Given the description of an element on the screen output the (x, y) to click on. 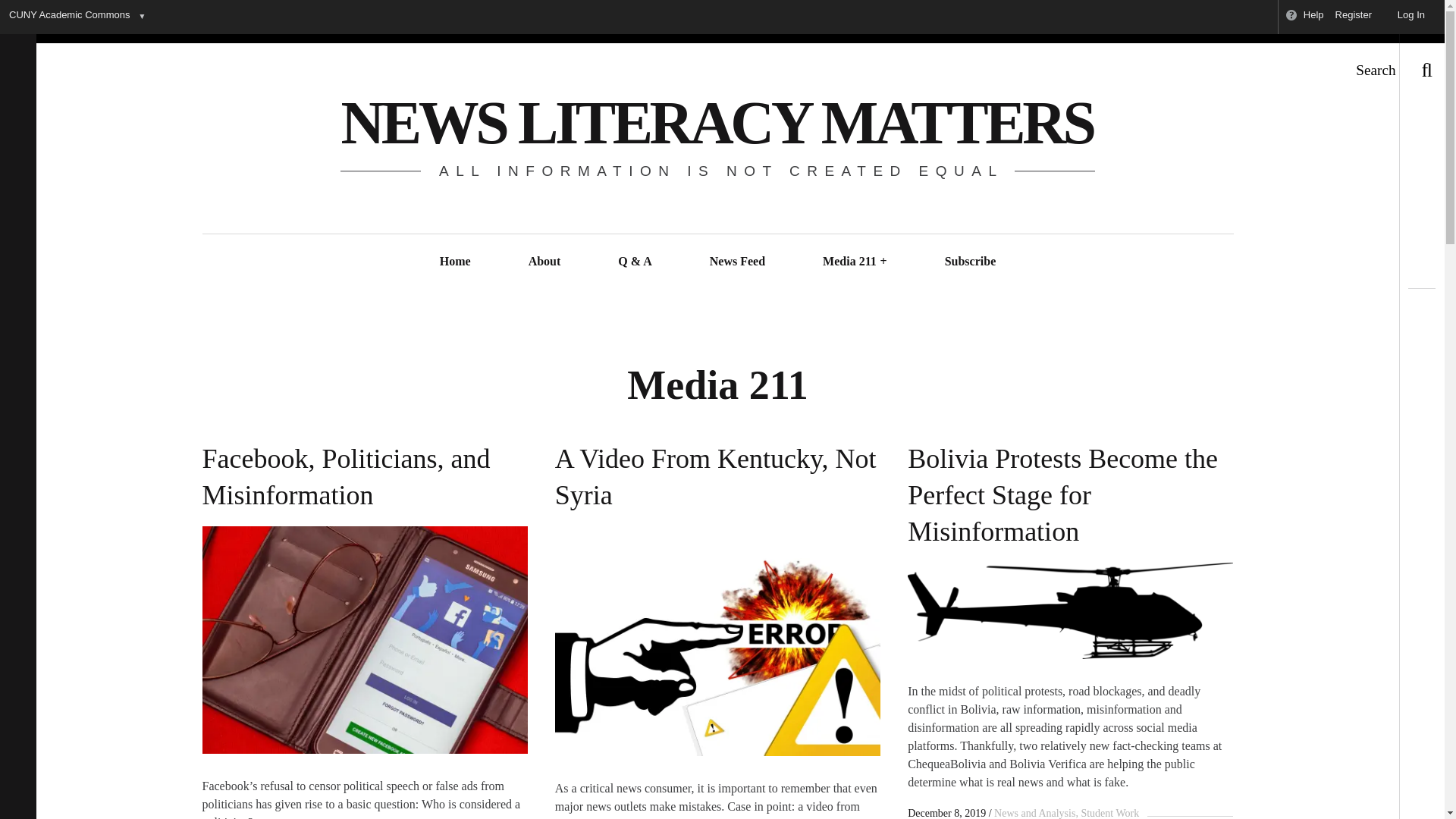
Student Work (1106, 813)
Facebook, Politicians, and Misinformation (364, 470)
A Video From Kentucky, Not Syria (717, 470)
December 8, 2019 (946, 813)
Bolivia Protests Become the Perfect Stage for Misinformation (1070, 489)
N (717, 640)
N (1070, 611)
About (544, 261)
Home (454, 261)
N (364, 640)
Subscribe (970, 261)
NEWS LITERACY MATTERS (716, 122)
News and Analysis (1034, 813)
News Feed (737, 261)
